Given the description of an element on the screen output the (x, y) to click on. 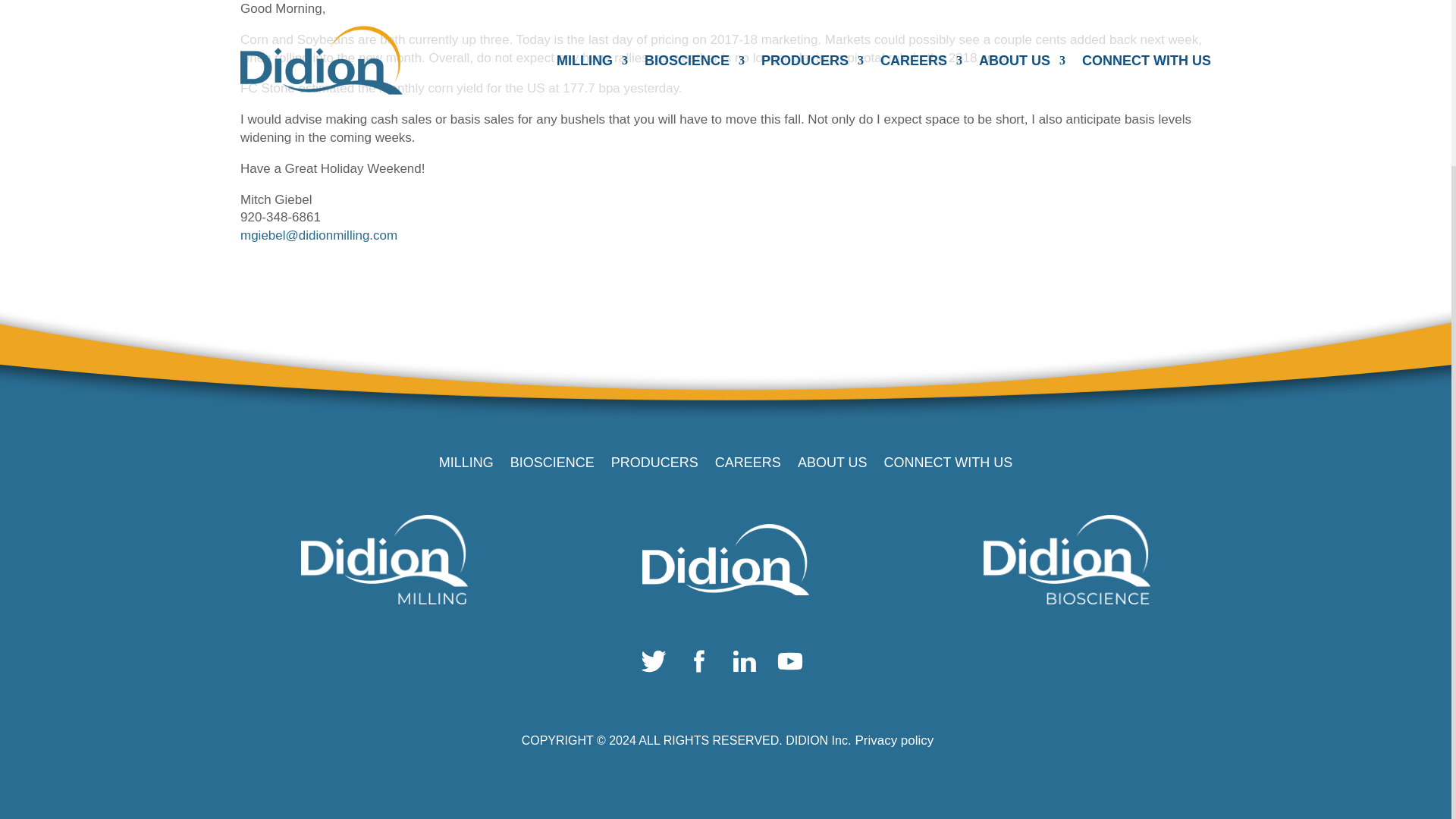
didion-bioscience (1067, 559)
Follow on Facebook (702, 664)
Follow on Youtube (793, 664)
didion-milling (384, 559)
Follow on LinkedIn (748, 664)
didion-logo-white (725, 559)
Follow on X (657, 664)
